Given the description of an element on the screen output the (x, y) to click on. 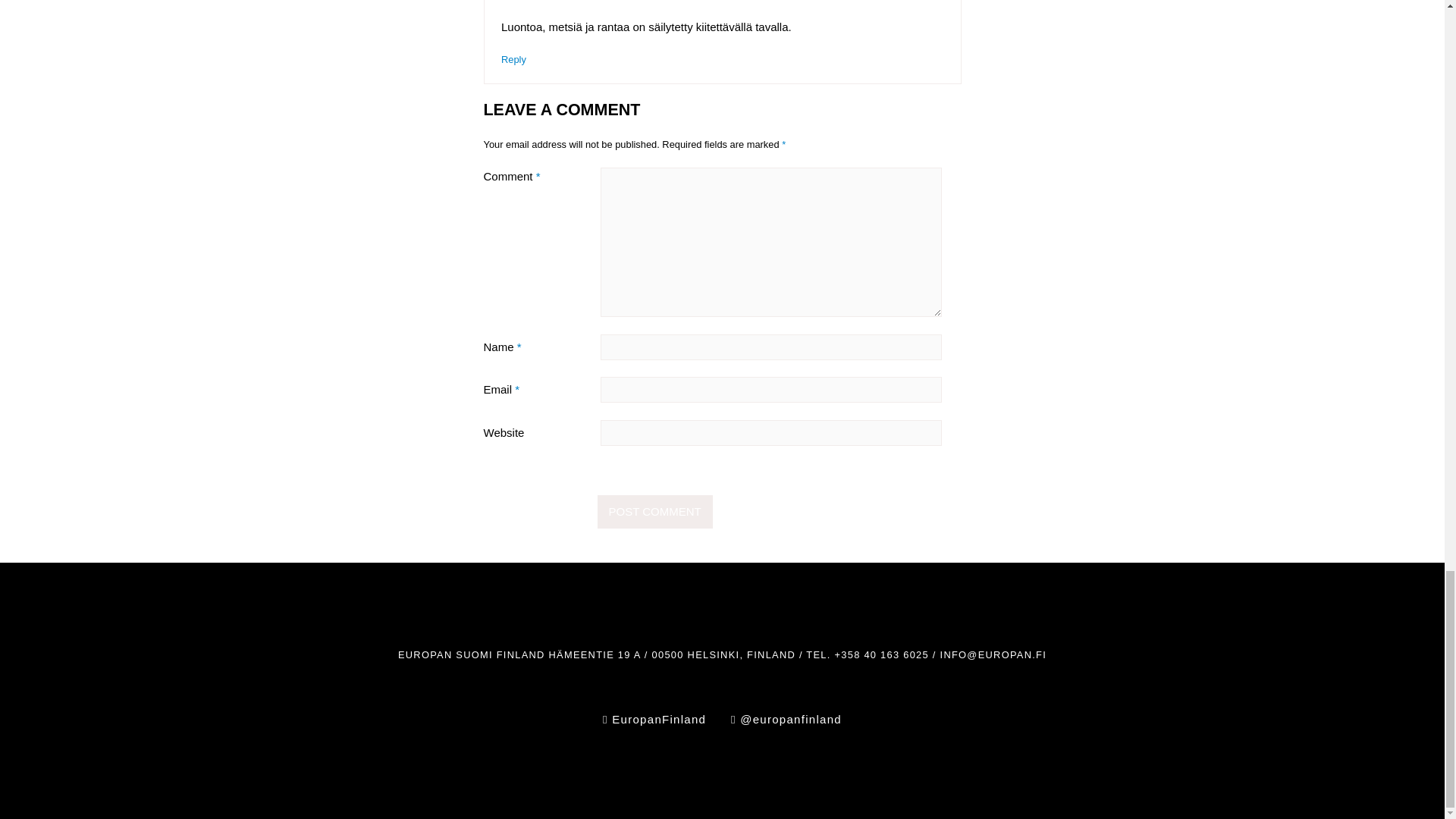
 EuropanFinland (654, 718)
Post Comment (654, 511)
Post Comment (654, 511)
Reply (512, 59)
